Given the description of an element on the screen output the (x, y) to click on. 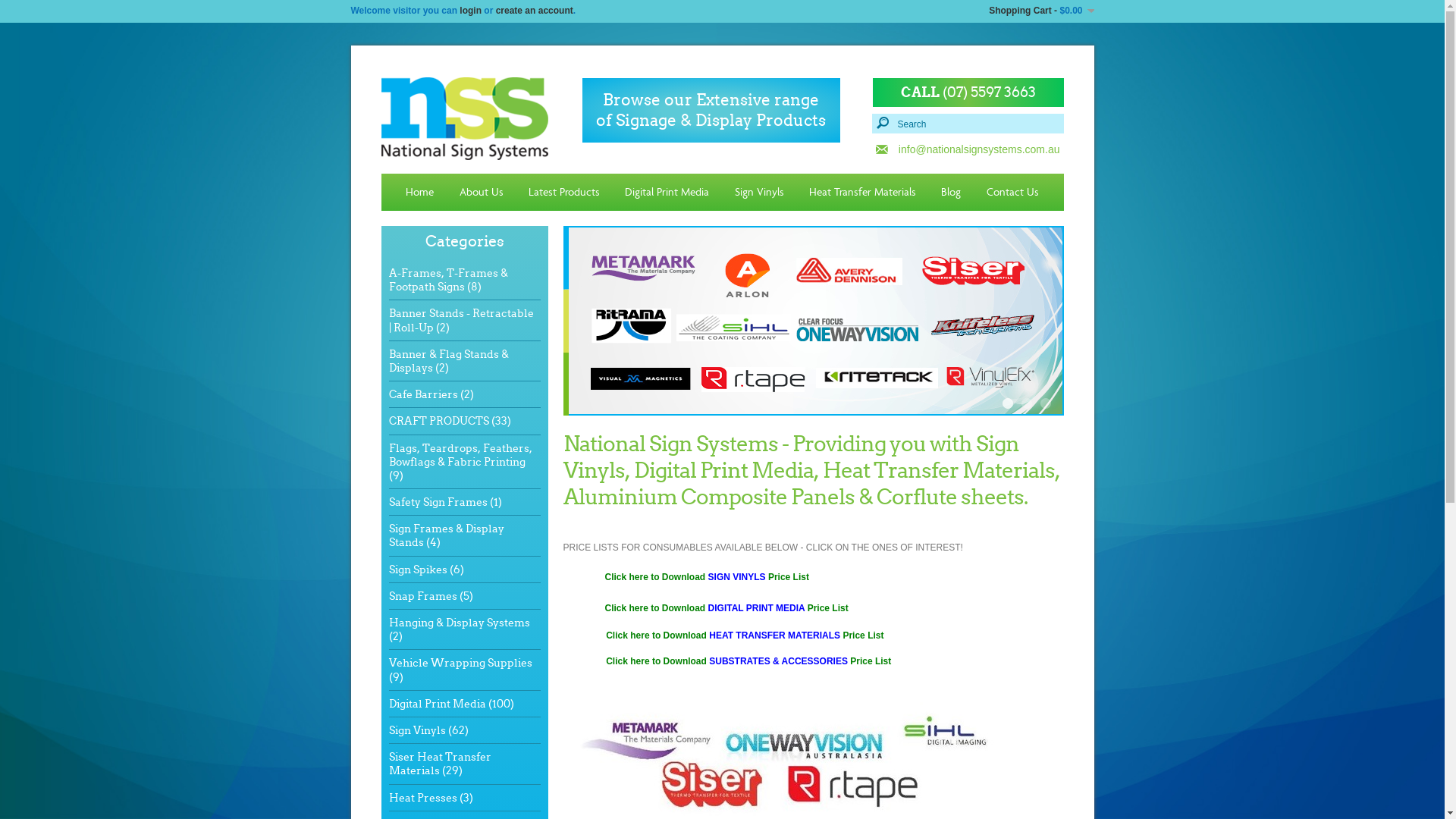
HEAT TRANSFER MATERIALS Element type: text (774, 635)
Siser Heat Transfer Materials (29) Element type: text (439, 763)
Click here to Download Element type: text (655, 635)
SUBSTRATES & ACCESSORIES Element type: text (776, 660)
                  Element type: text (583, 635)
Home Element type: text (419, 191)
Heat Presses (3) Element type: text (430, 797)
create an account Element type: text (534, 10)
            Element type: text (583, 576)
info@nationalsignsystems.com.au Element type: text (967, 149)
Digital Print Media Element type: text (666, 191)
SIGN VINYLS Element type: text (738, 576)
                  Element type: text (583, 660)
National Sign Systems Element type: hover (463, 116)
Latest Products Element type: text (564, 191)
Banner Stands - Retractable | Roll-Up (2) Element type: text (460, 319)
Safety Sign Frames (1) Element type: text (444, 501)
Blog Element type: text (950, 191)
Browse our Extensive range
of Signage & Display Products Element type: text (711, 110)
Sign Spikes (6) Element type: text (425, 569)
CRAFT PRODUCTS (33) Element type: text (449, 420)
            Element type: text (583, 607)
Price List Element type: text (869, 660)
Digital Print Media (100) Element type: text (450, 703)
Flags, Teardrops, Feathers, Bowflags & Fabric Printing (9) Element type: text (459, 460)
Snap Frames (5) Element type: text (430, 595)
DIGITAL PRINT MEDIA Element type: text (754, 607)
Click here to Download Element type: text (655, 660)
Sign Frames & Display Stands (4) Element type: text (445, 535)
login Element type: text (470, 10)
Cafe Barriers (2) Element type: text (430, 394)
Price List Element type: text (788, 576)
Click here to Download Element type: text (655, 607)
1 Element type: text (1007, 403)
Sign Vinyls (62) Element type: text (427, 730)
Sign Vinyls Element type: text (759, 191)
A-Frames, T-Frames & Footpath Signs (8) Element type: text (447, 279)
Search Element type: text (967, 123)
Vehicle Wrapping Supplies (9) Element type: text (459, 669)
Contact Us Element type: text (1012, 191)
Click here to Download Element type: text (656, 576)
Price List Element type: text (825, 607)
3 Element type: text (1045, 403)
Hanging & Display Systems (2) Element type: text (458, 629)
About Us Element type: text (481, 191)
Heat Transfer Materials Element type: text (862, 191)
2 Element type: text (1025, 403)
Banner & Flag Stands & Displays (2) Element type: text (448, 360)
$0.00 Element type: text (1076, 10)
Price List Element type: text (862, 635)
